Given the description of an element on the screen output the (x, y) to click on. 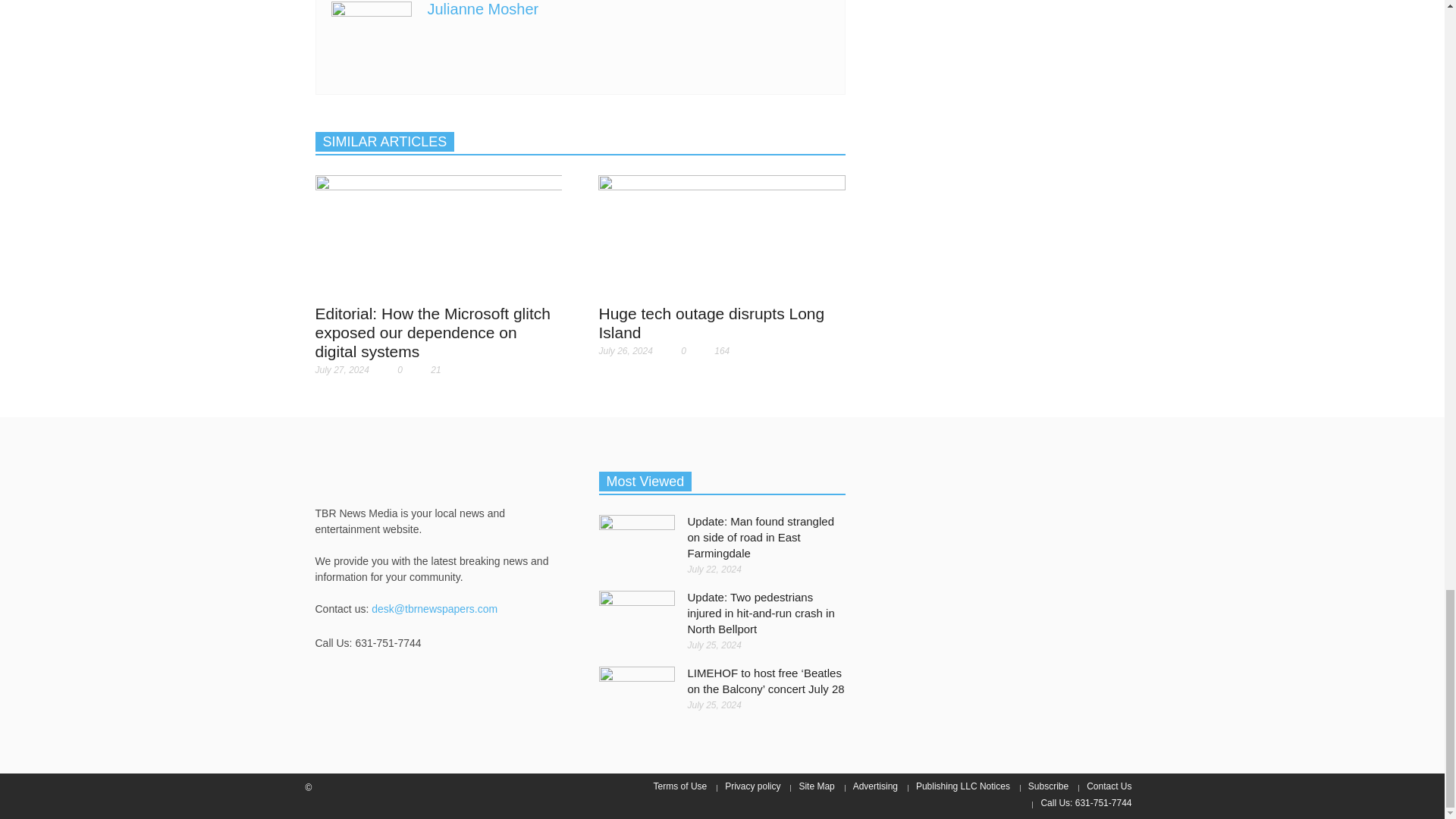
Huge tech outage disrupts Long Island (721, 235)
Huge tech outage disrupts Long Island (721, 234)
Huge tech outage disrupts Long Island (711, 322)
